Given the description of an element on the screen output the (x, y) to click on. 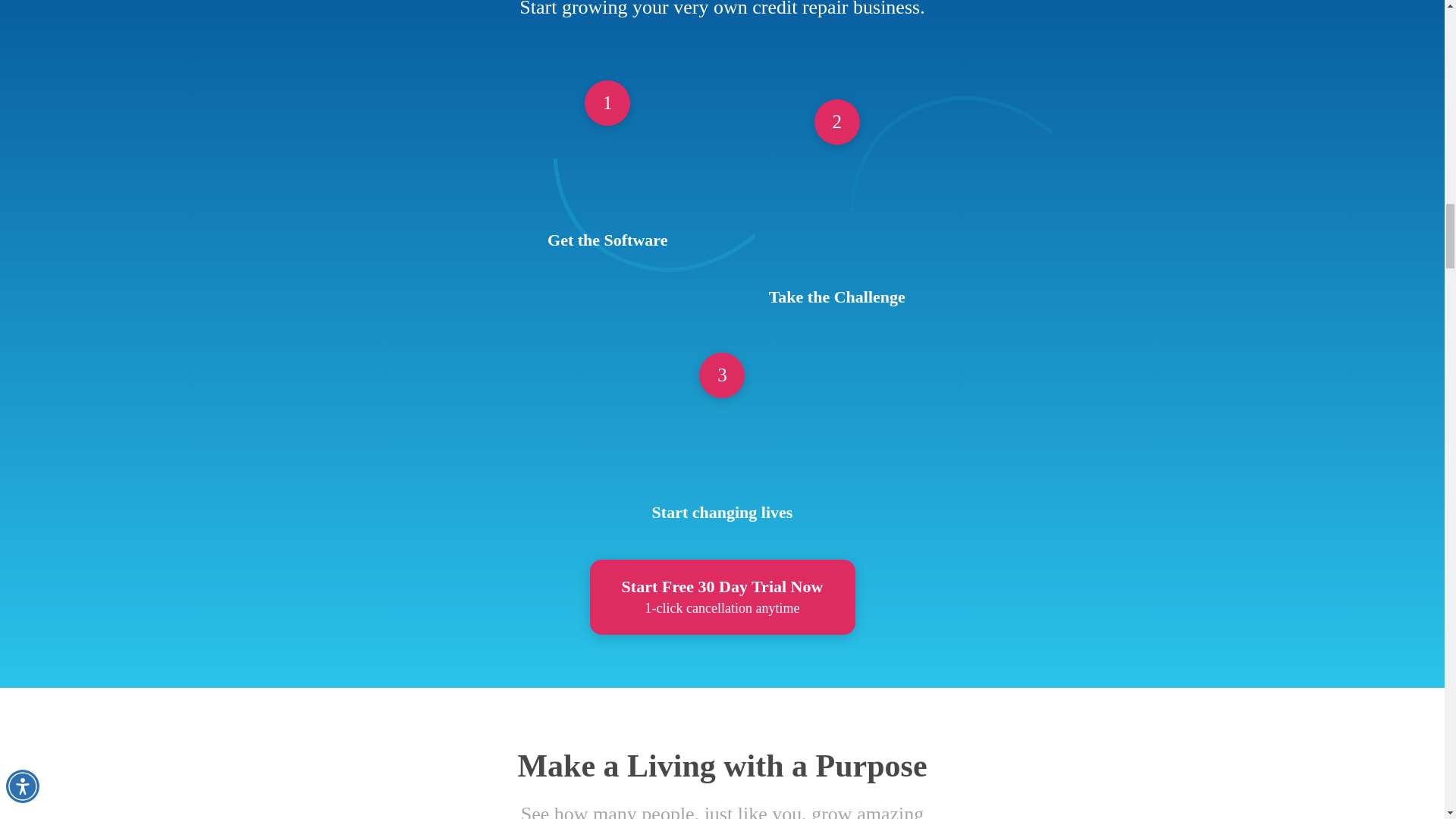
Start Free 30 Day Trial Now 1-click cancellation anytime (722, 596)
